Given the description of an element on the screen output the (x, y) to click on. 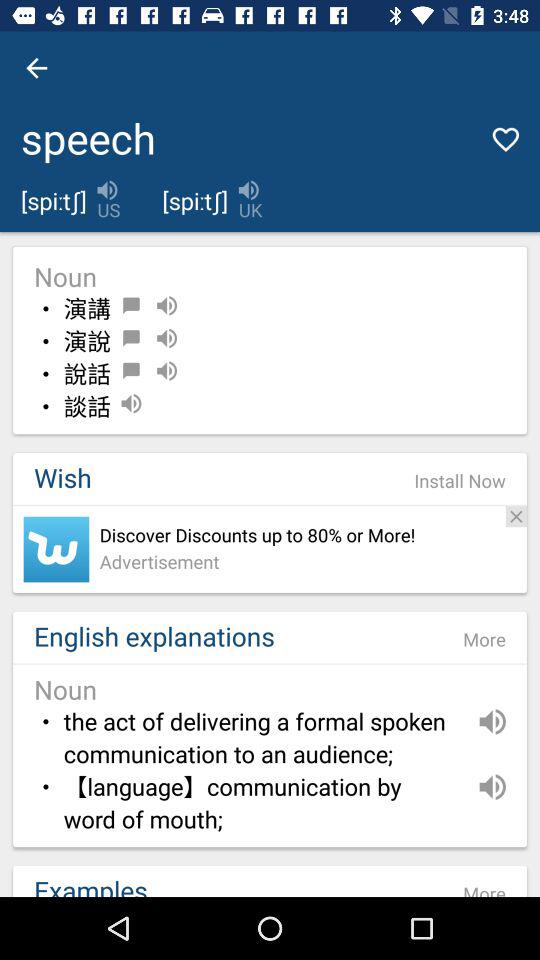
shopping made (56, 549)
